Given the description of an element on the screen output the (x, y) to click on. 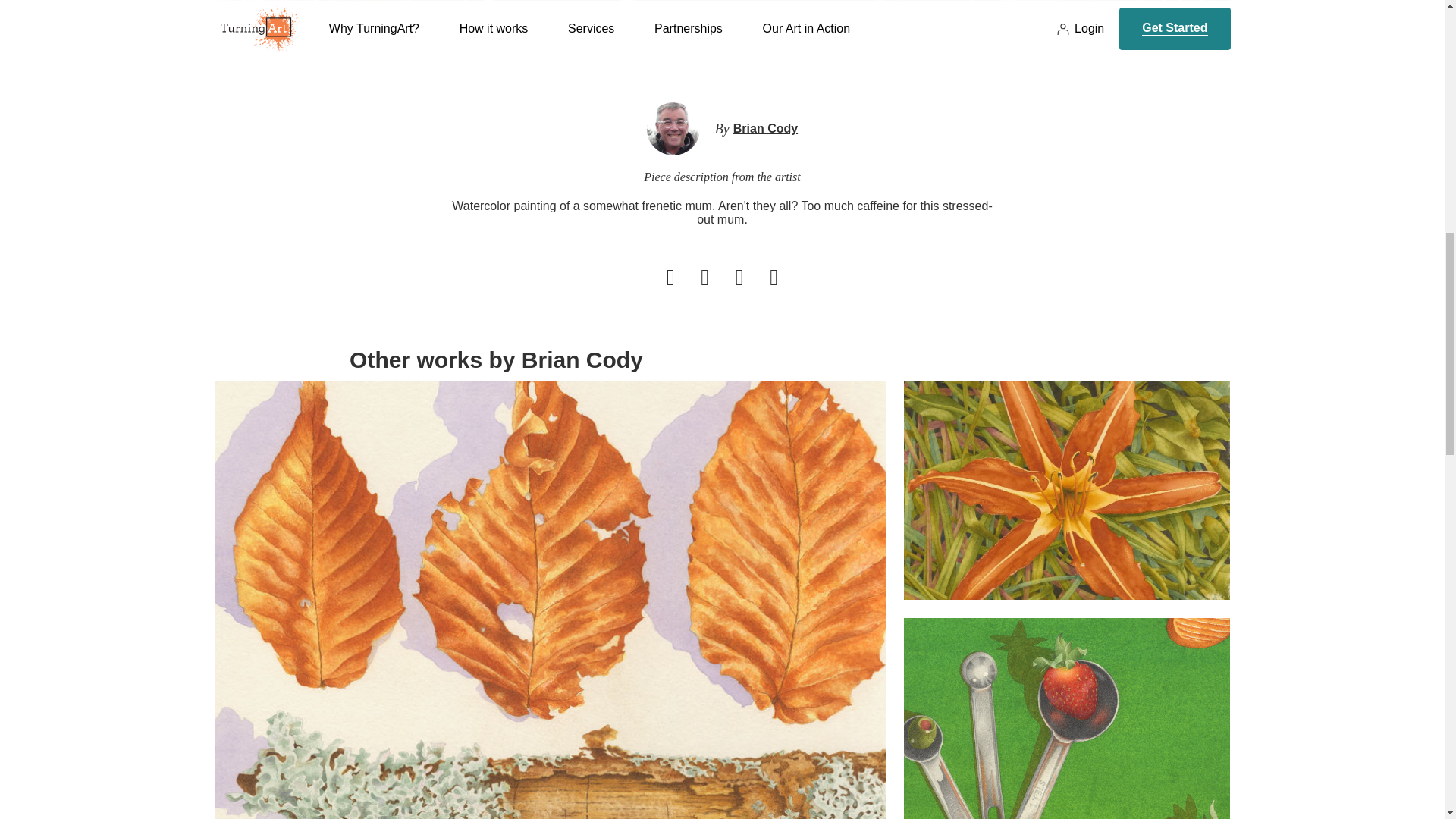
Brian Cody (765, 128)
